Given the description of an element on the screen output the (x, y) to click on. 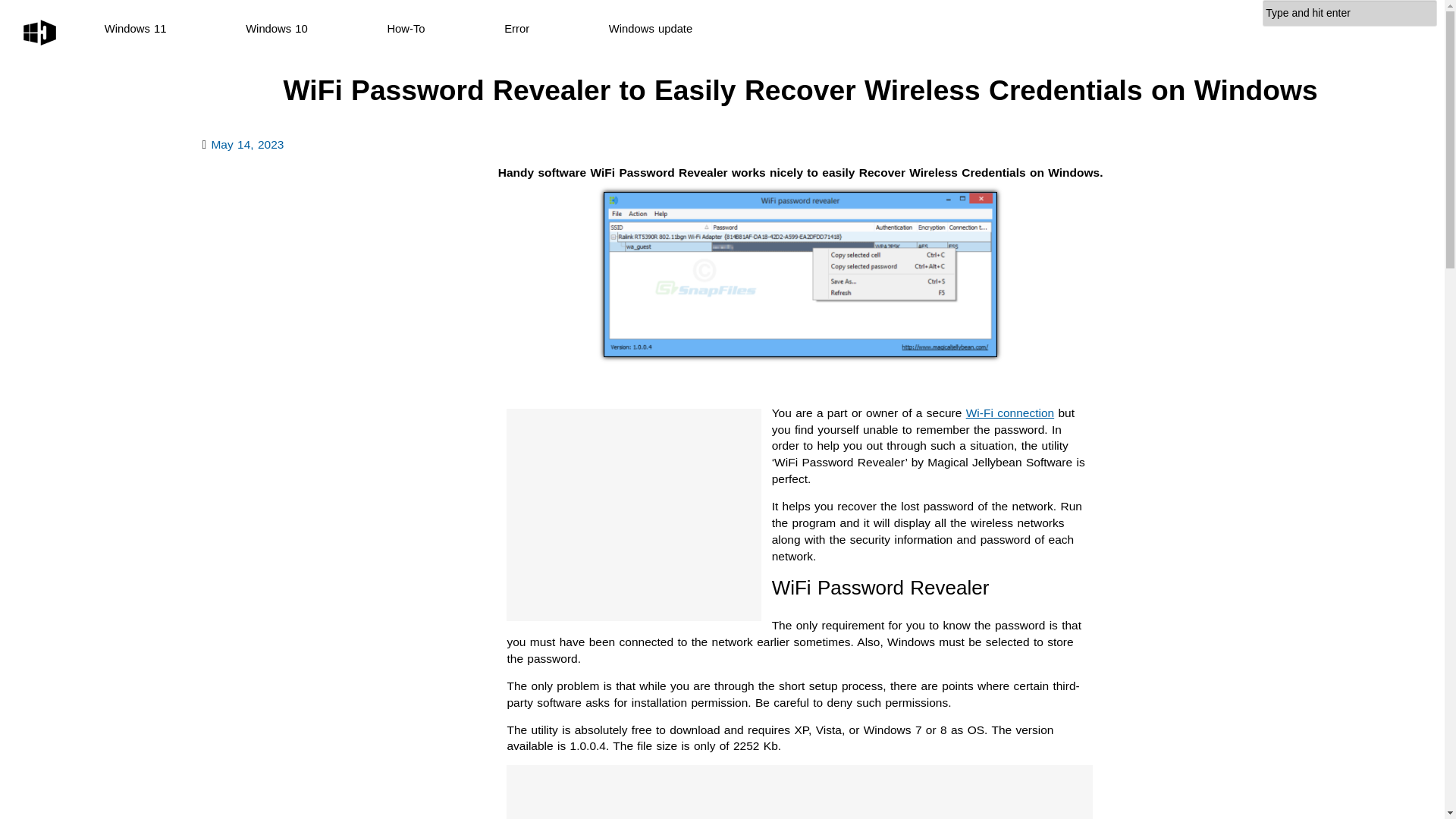
Error (516, 28)
Wi-Fi connection (1010, 412)
1684084854 (247, 144)
Windows 10 (276, 28)
May 14, 2023 (247, 144)
Windows update (650, 28)
Type and hit enter (1349, 13)
How-To (406, 28)
Windows 11 (136, 28)
wifi password revealer (800, 274)
